Given the description of an element on the screen output the (x, y) to click on. 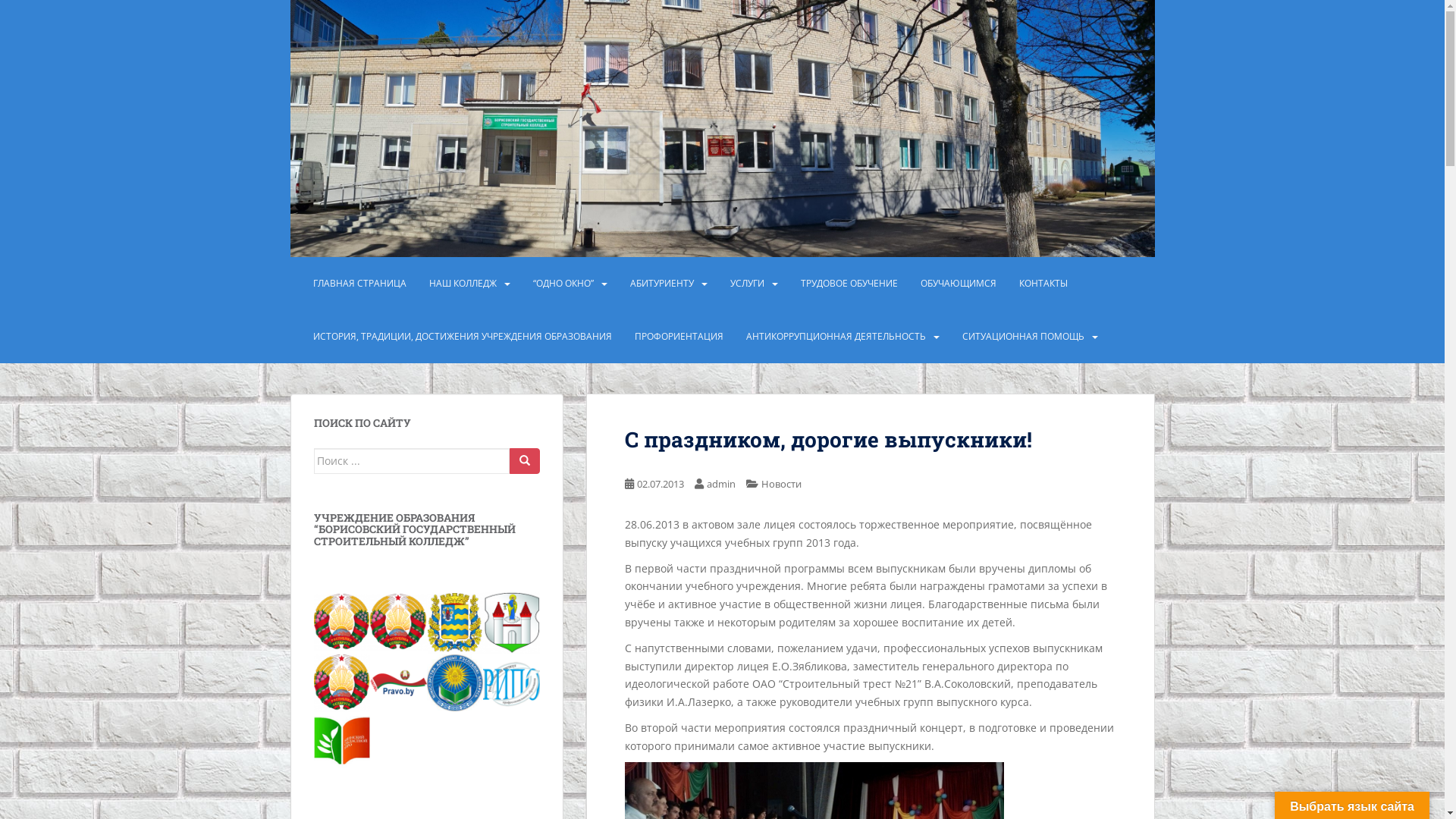
admin Element type: text (720, 483)
02.07.2013 Element type: text (660, 483)
